Given the description of an element on the screen output the (x, y) to click on. 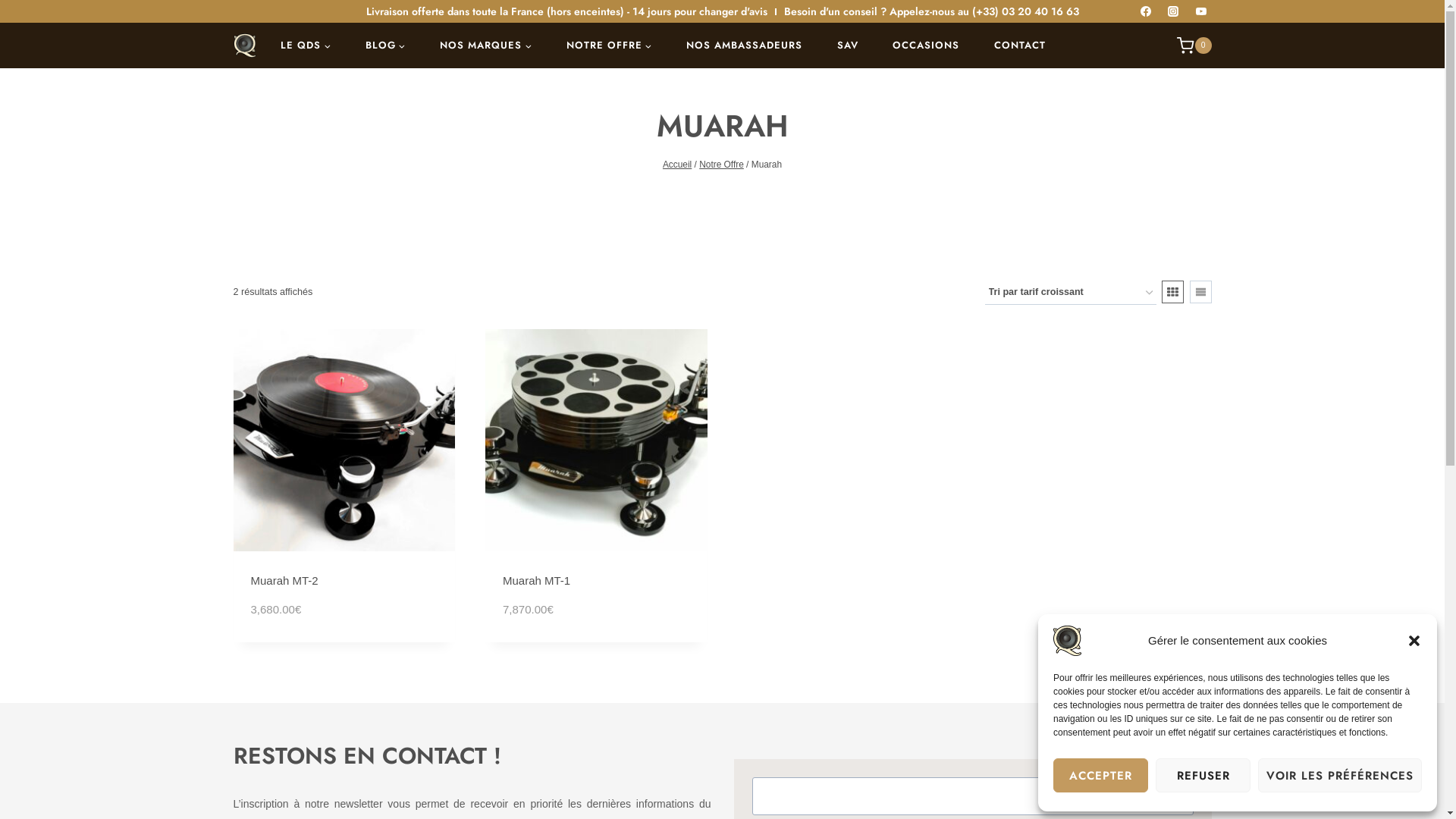
Accueil Element type: text (676, 164)
CONTACT Element type: text (1019, 45)
NOS MARQUES Element type: text (486, 45)
Notre Offre Element type: text (721, 164)
BLOG Element type: text (385, 45)
ACCEPTER Element type: text (1100, 775)
Muarah MT-2 Element type: text (283, 580)
NOTRE OFFRE Element type: text (609, 45)
SAV Element type: text (847, 45)
Muarah MT-1 Element type: text (536, 580)
REFUSER Element type: text (1202, 775)
Grid View Element type: hover (1172, 291)
List View Element type: hover (1200, 291)
LE QDS Element type: text (305, 45)
0 Element type: text (1186, 45)
OCCASIONS Element type: text (925, 45)
NOS AMBASSADEURS Element type: text (743, 45)
